Given the description of an element on the screen output the (x, y) to click on. 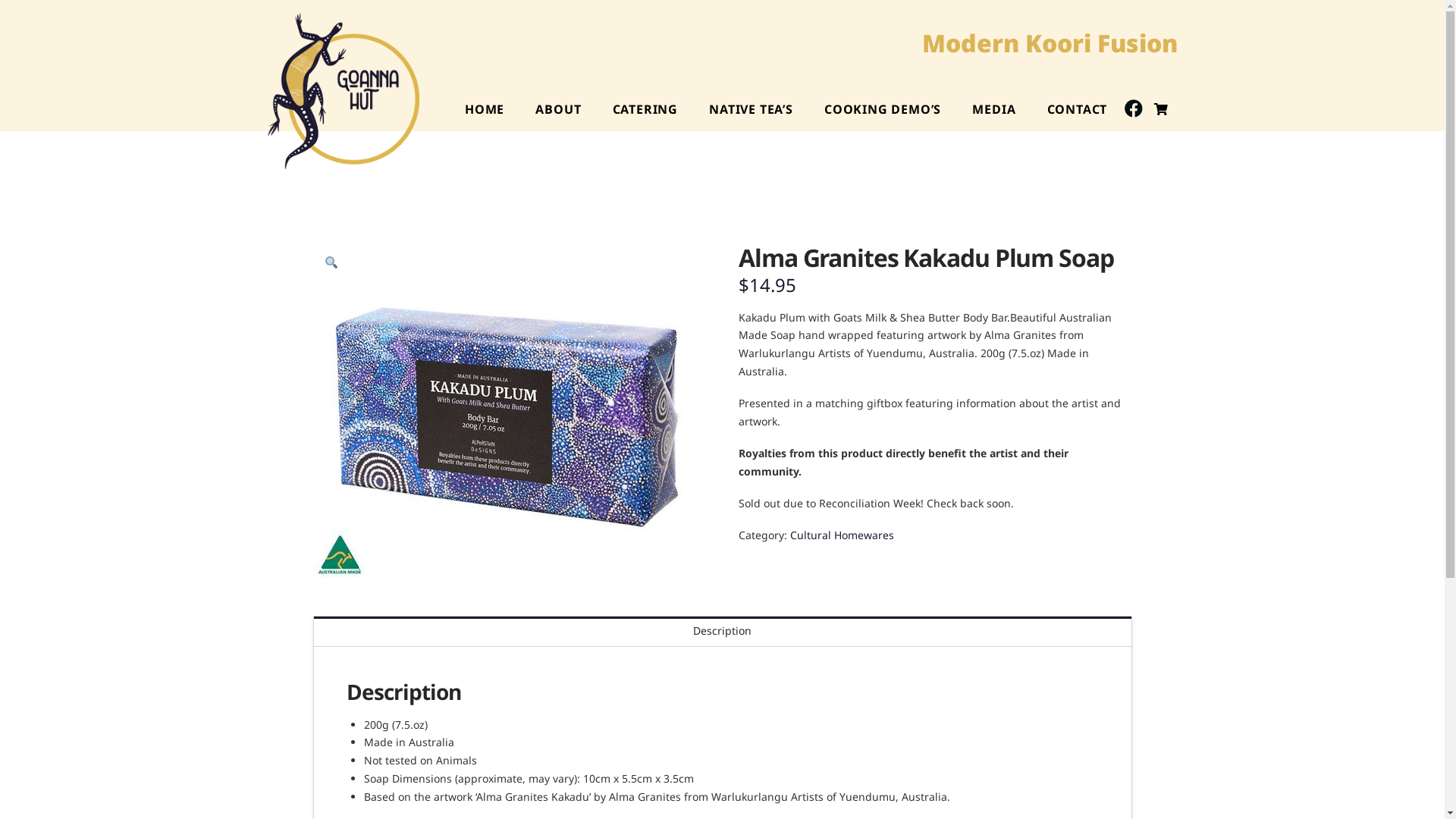
Description Element type: text (722, 631)
CATERING Element type: text (644, 109)
Alma Granites Kakadu Plum Soap Element type: hover (506, 410)
HOME Element type: text (483, 109)
ABOUT Element type: text (557, 109)
CONTACT Element type: text (1077, 109)
Cultural Homewares Element type: text (842, 534)
MEDIA Element type: text (993, 109)
